Given the description of an element on the screen output the (x, y) to click on. 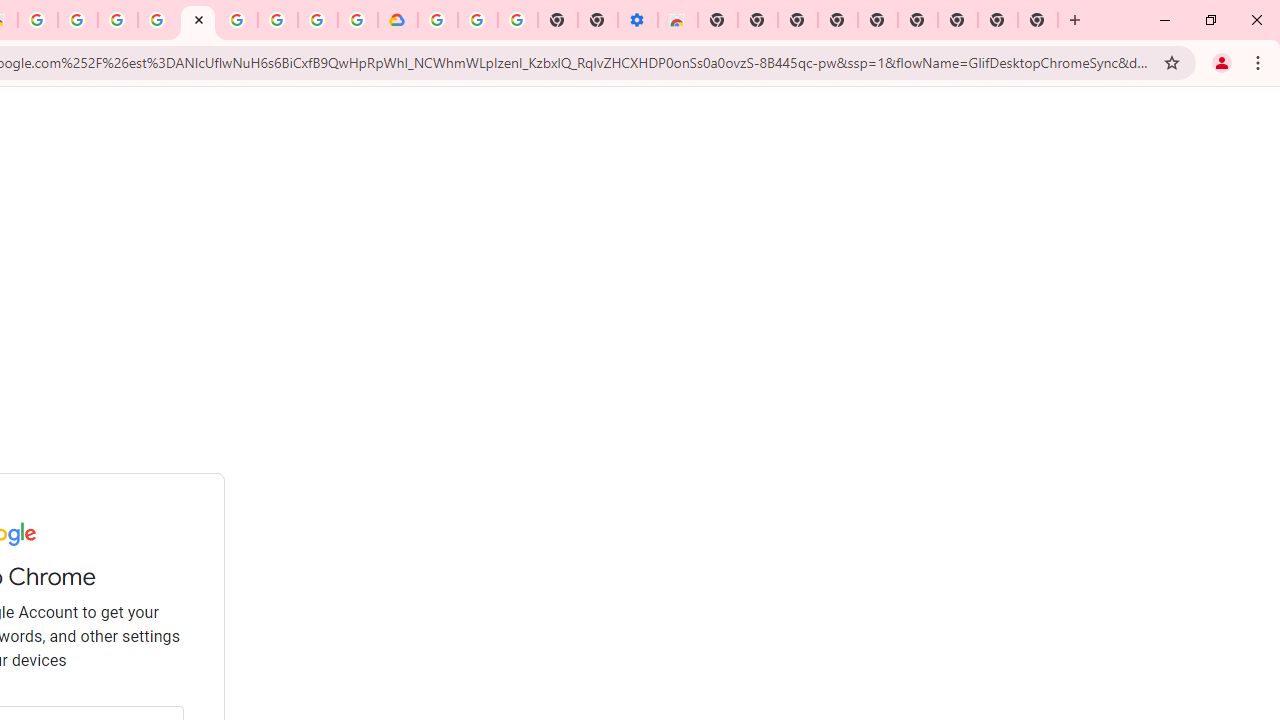
Google Account Help (237, 20)
Create your Google Account (317, 20)
Browse the Google Chrome Community - Google Chrome Community (357, 20)
Settings - Accessibility (637, 20)
New Tab (1037, 20)
